Given the description of an element on the screen output the (x, y) to click on. 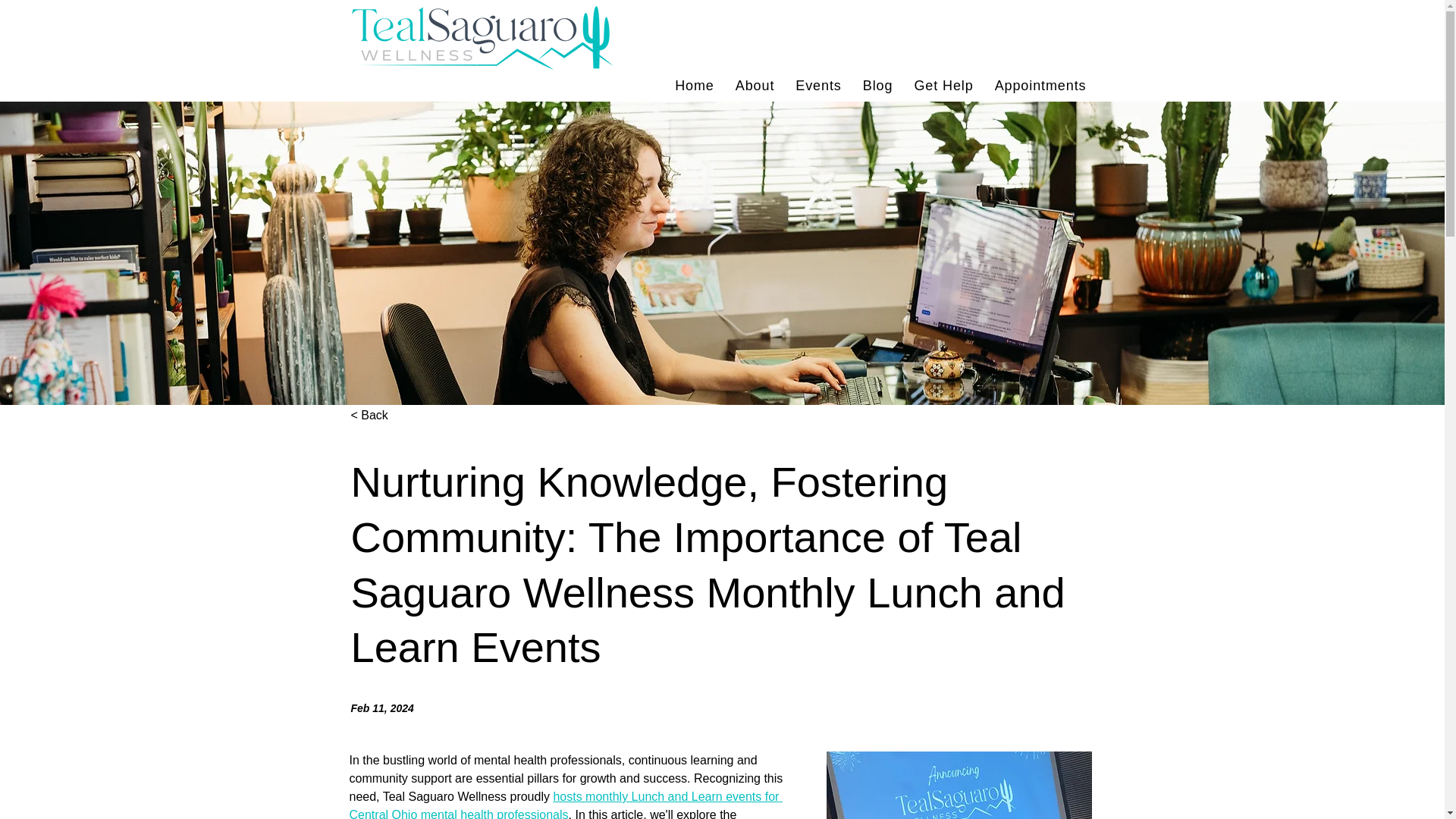
Blog (878, 85)
About (755, 85)
Home (721, 85)
Events (694, 85)
Get Help (817, 85)
Appointments (942, 85)
